Given the description of an element on the screen output the (x, y) to click on. 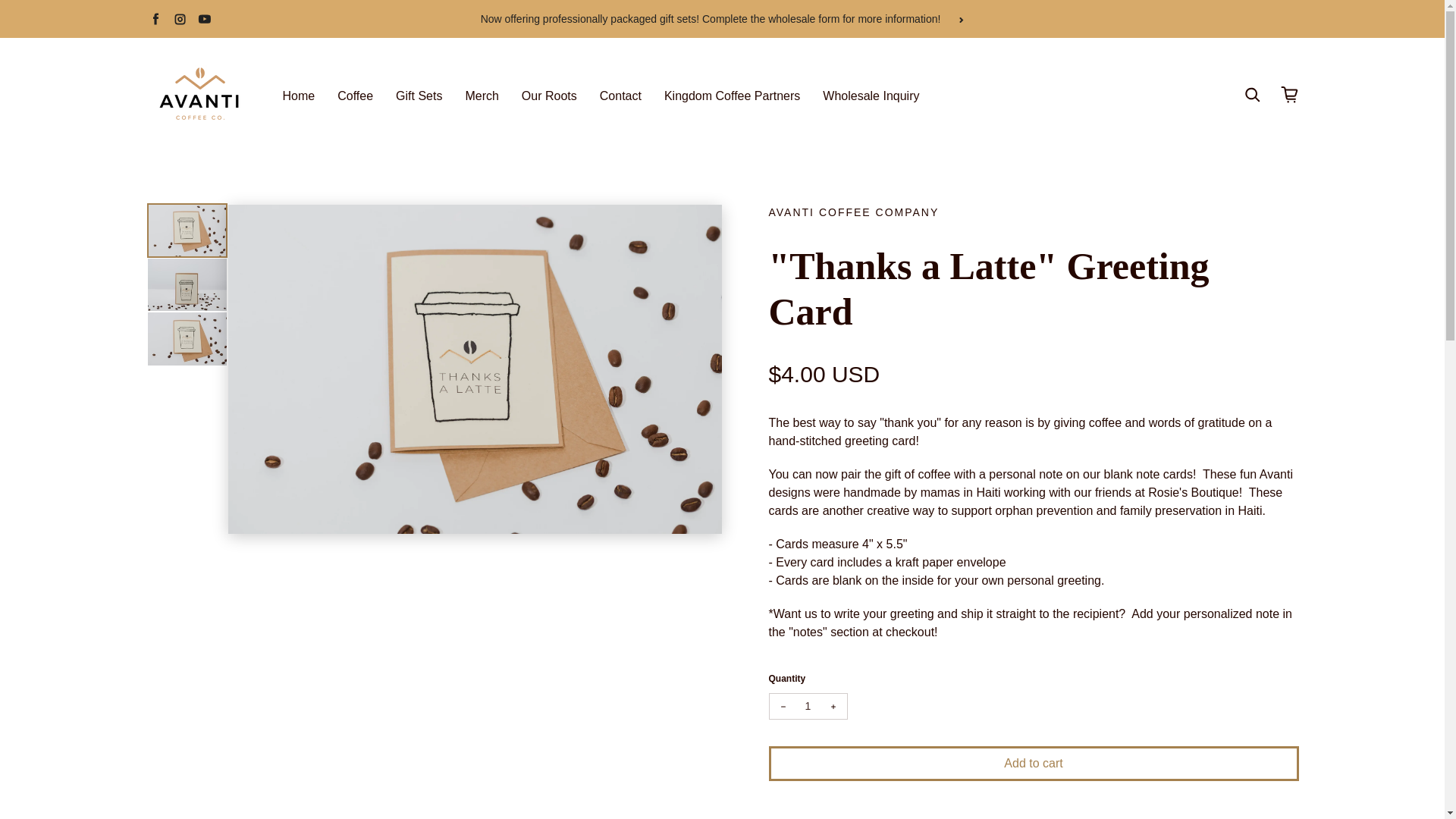
1 (807, 705)
Wholesale Inquiry (870, 96)
Gift Sets (419, 96)
Home (298, 96)
Contact (620, 96)
Coffee (354, 96)
Instagram (179, 18)
YouTube (203, 18)
Facebook (154, 18)
Merch (480, 96)
Our Roots (548, 96)
Kingdom Coffee Partners (731, 96)
